Given the description of an element on the screen output the (x, y) to click on. 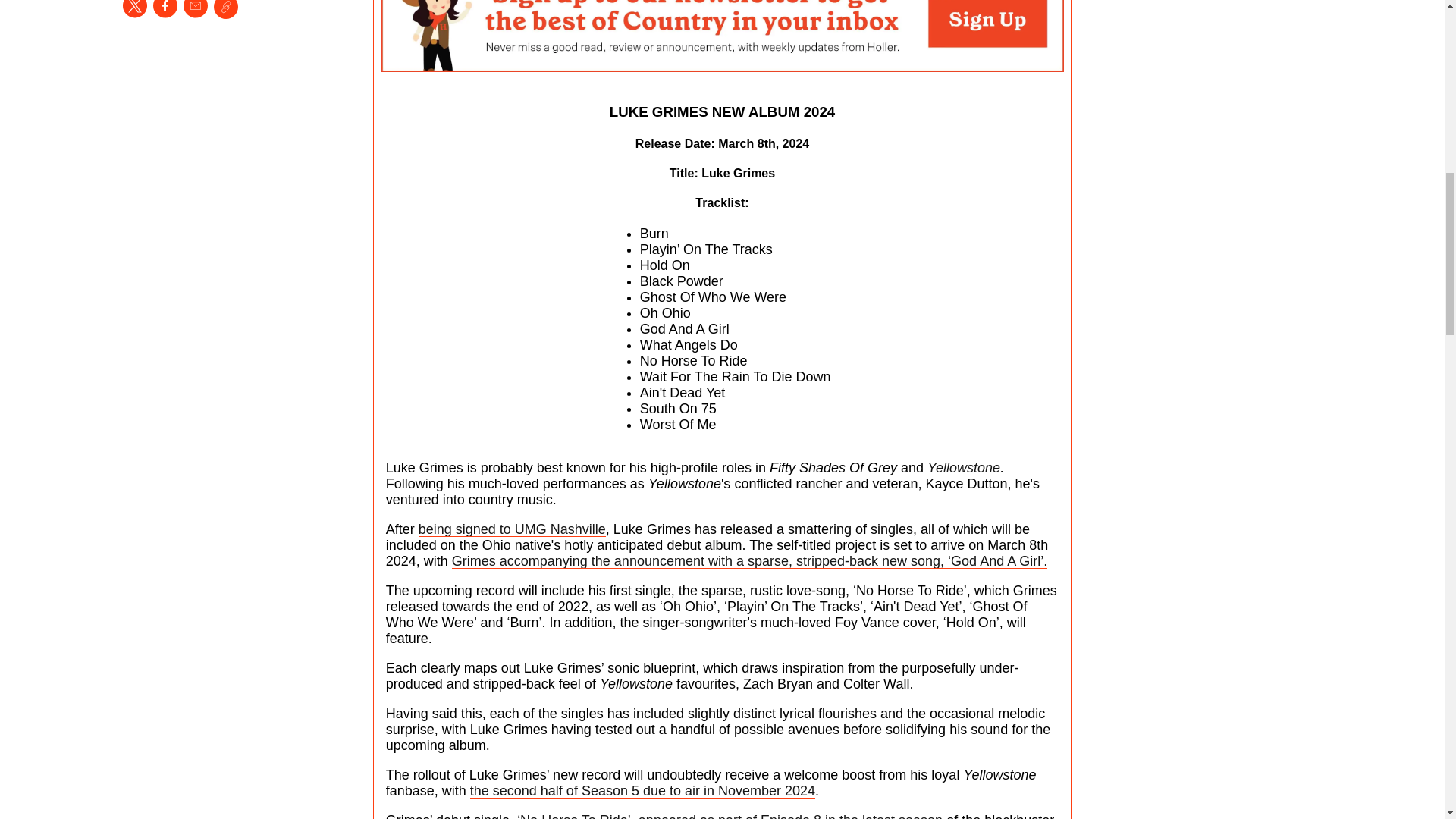
the second half of Season 5 due to air in November 2024 (642, 790)
Yellowstone (963, 467)
being signed to UMG Nashville (512, 529)
